Given the description of an element on the screen output the (x, y) to click on. 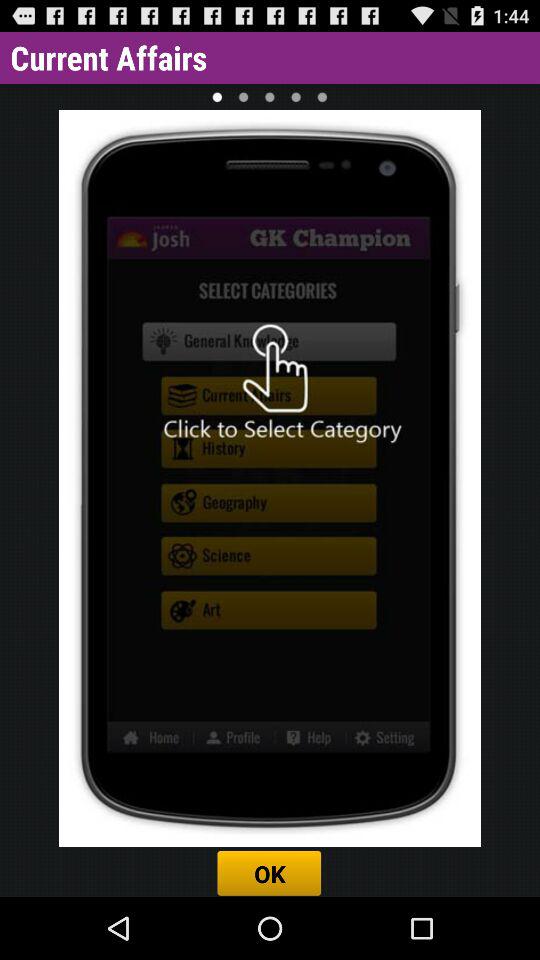
turn on the ok at the bottom (269, 873)
